Given the description of an element on the screen output the (x, y) to click on. 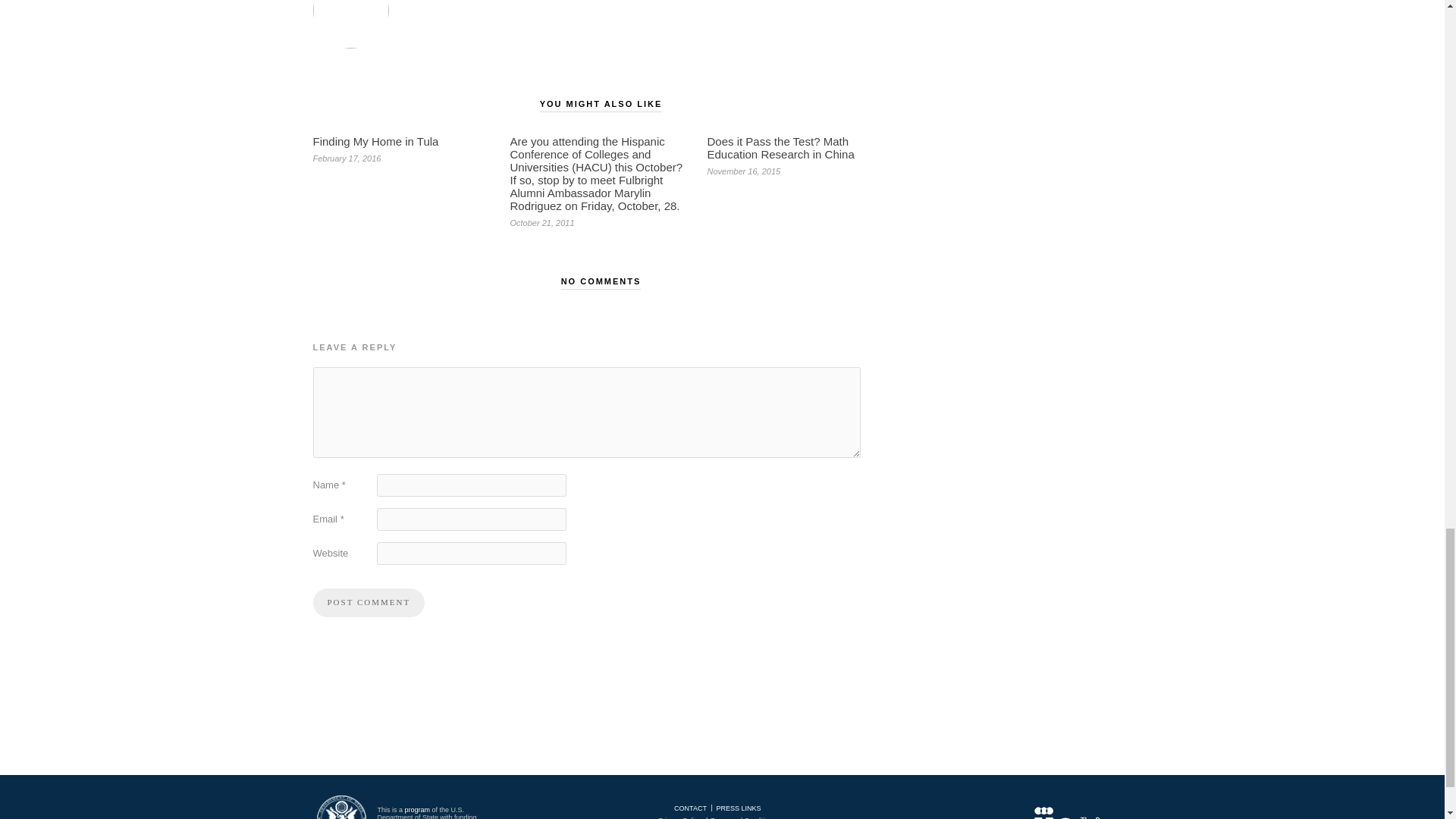
Terms and Conditions (743, 817)
Privacy Policy (679, 817)
Does it Pass the Test? Math Education Research in China (779, 147)
Finding My Home in Tula (375, 141)
Contact (690, 808)
Post Comment (369, 602)
Post Comment (369, 602)
Press Links (738, 808)
